Given the description of an element on the screen output the (x, y) to click on. 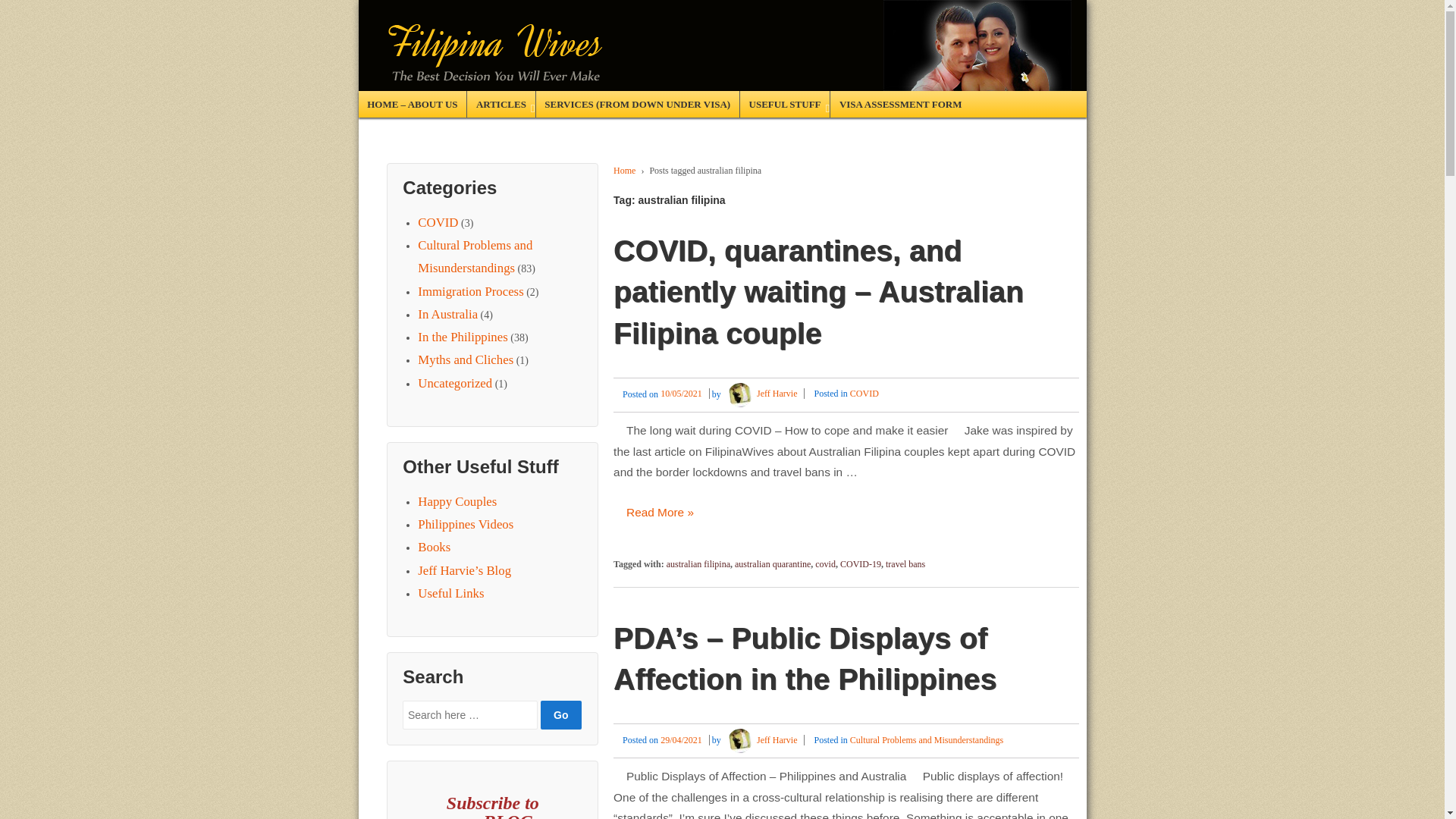
10/05/2021 Element type: text (684, 393)
COVID Element type: text (864, 393)
travel bans Element type: text (905, 563)
29/04/2021 Element type: text (684, 739)
Go Element type: text (561, 714)
Cultural Problems and Misunderstandings Element type: text (926, 739)
Home Element type: text (624, 170)
Cultural Problems and Misunderstandings Element type: text (474, 256)
Immigration Process Element type: text (470, 291)
VISA ASSESSMENT FORM Element type: text (899, 104)
Philippines Videos Element type: text (465, 524)
australian quarantine Element type: text (772, 563)
Jeff Harvie Element type: text (760, 393)
In Australia Element type: text (447, 314)
Books Element type: text (433, 546)
ARTICLES Element type: text (500, 104)
Myths and Cliches Element type: text (465, 359)
Jeff Harvie Element type: text (760, 739)
australian filipina Element type: text (698, 563)
USEFUL STUFF Element type: text (784, 104)
Uncategorized Element type: text (454, 383)
Useful Links Element type: text (450, 593)
Happy Couples Element type: text (456, 501)
COVID Element type: text (437, 222)
SERVICES (FROM DOWN UNDER VISA) Element type: text (637, 104)
covid Element type: text (825, 563)
COVID-19 Element type: text (860, 563)
In the Philippines Element type: text (462, 336)
